Given the description of an element on the screen output the (x, y) to click on. 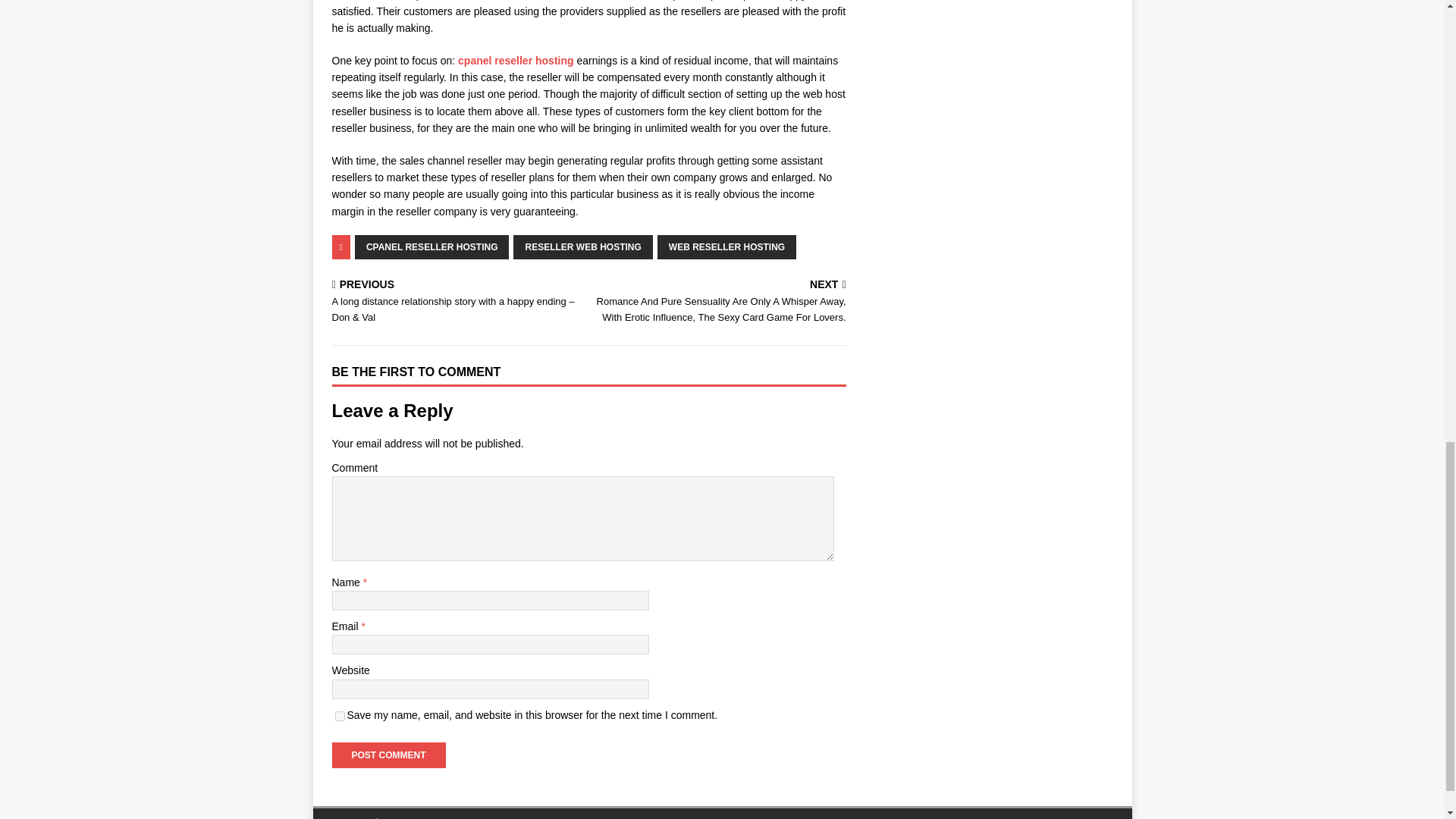
cpanel reseller hosting (515, 60)
WEB RESELLER HOSTING (727, 247)
RESELLER WEB HOSTING (582, 247)
Post Comment (388, 755)
yes (339, 716)
CPANEL RESELLER HOSTING (432, 247)
Post Comment (388, 755)
